Given the description of an element on the screen output the (x, y) to click on. 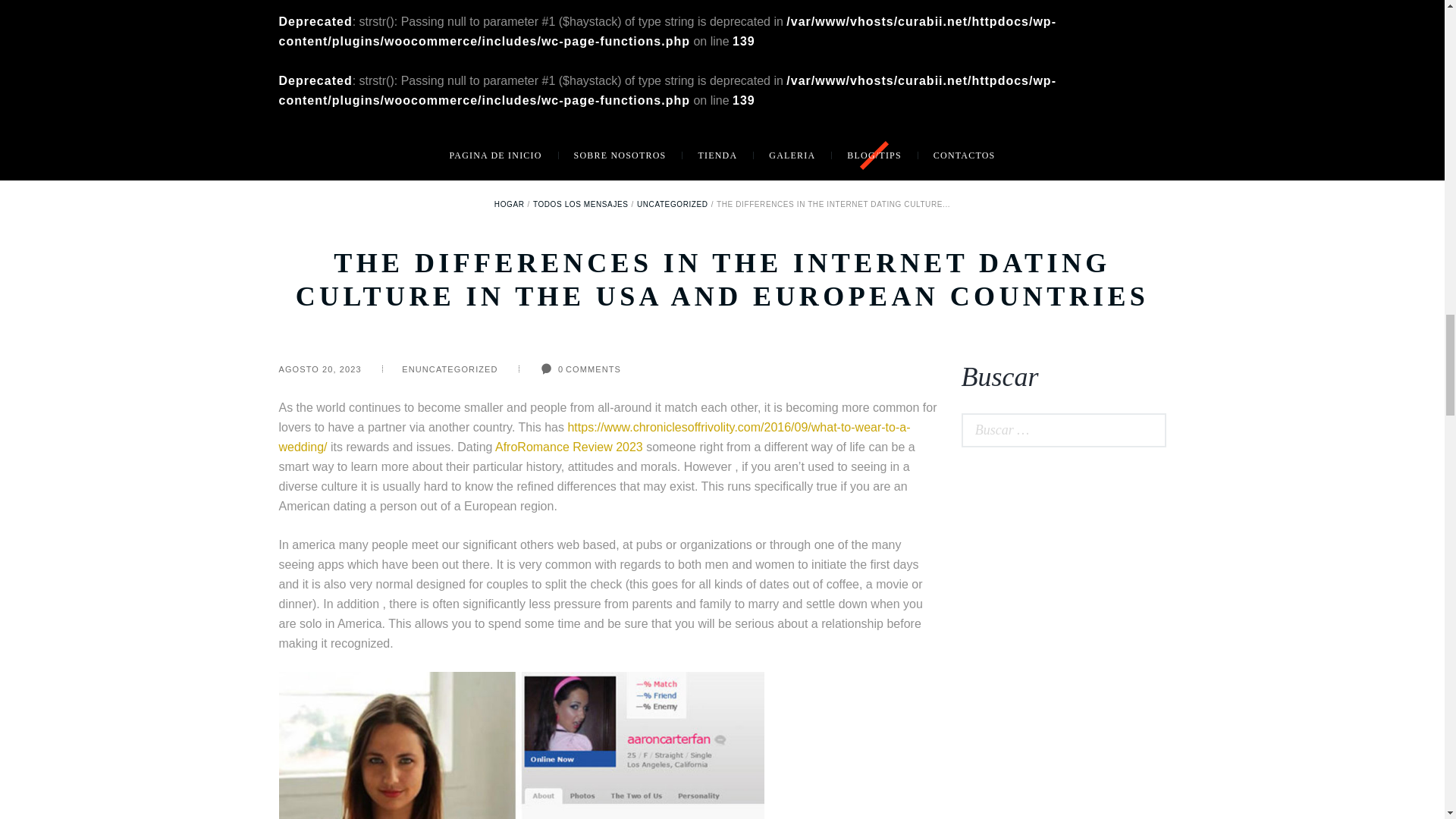
PAGINA DE INICIO (495, 155)
AfroRomance Review 2023 (569, 446)
GALERIA (791, 155)
0COMMENTS (560, 368)
TODOS LOS MENSAJES (580, 203)
AGOSTO 20, 2023 (320, 368)
UNCATEGORIZED (455, 368)
CONTACTOS (964, 155)
SOBRE NOSOTROS (619, 155)
TIENDA (716, 155)
UNCATEGORIZED (672, 204)
HOGAR (509, 204)
